Given the description of an element on the screen output the (x, y) to click on. 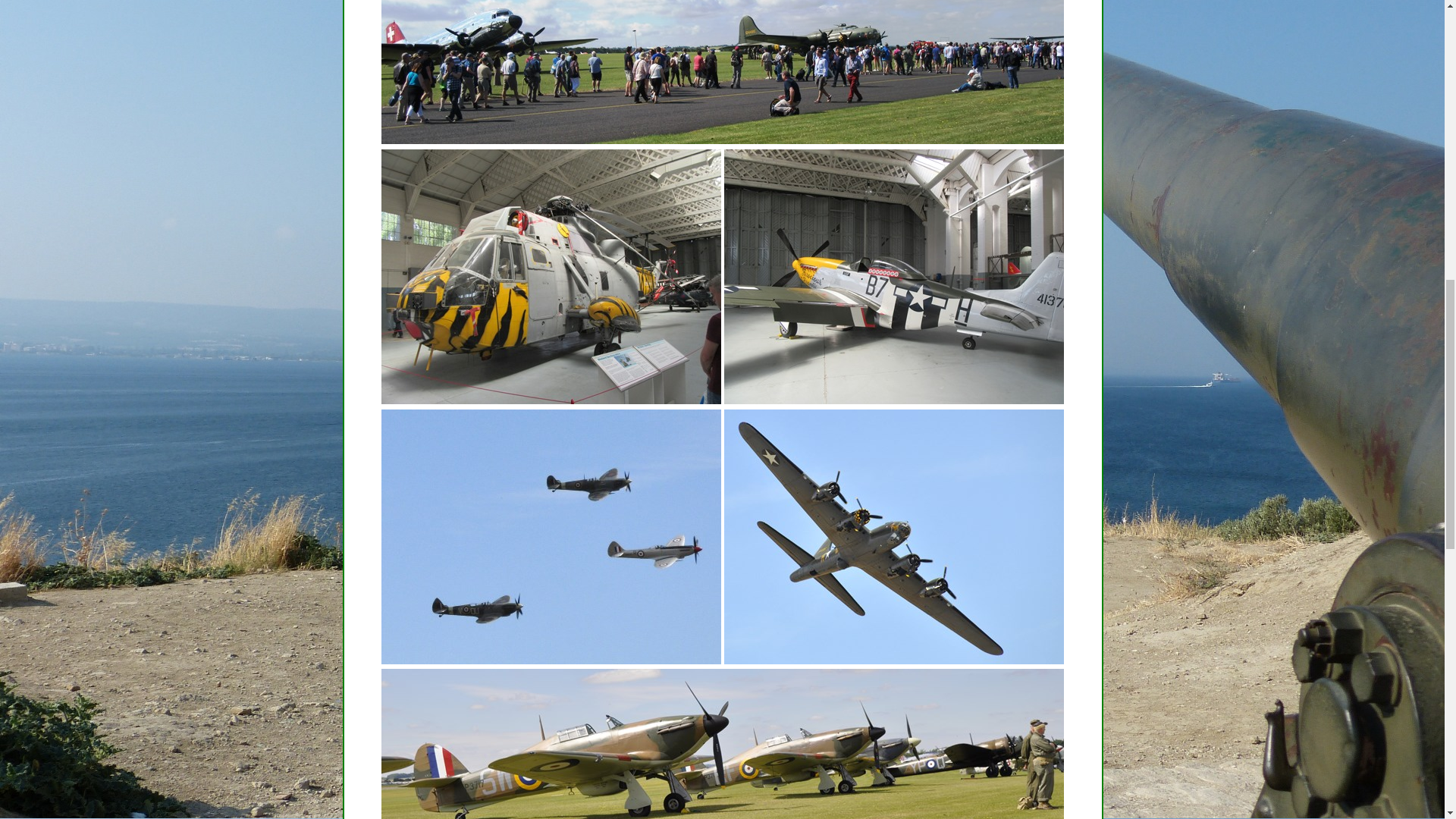
RAAF in the UK Tour 2017 (722, 72)
RAAF in the UK Tour 2017 (722, 744)
RAAF in the UK Tour 2017 (550, 276)
RAAF in the UK Tour 2017 (893, 276)
RAAF in the UK Tour 2017 (550, 536)
RAAF in the UK Tour 2017 (893, 536)
